Given the description of an element on the screen output the (x, y) to click on. 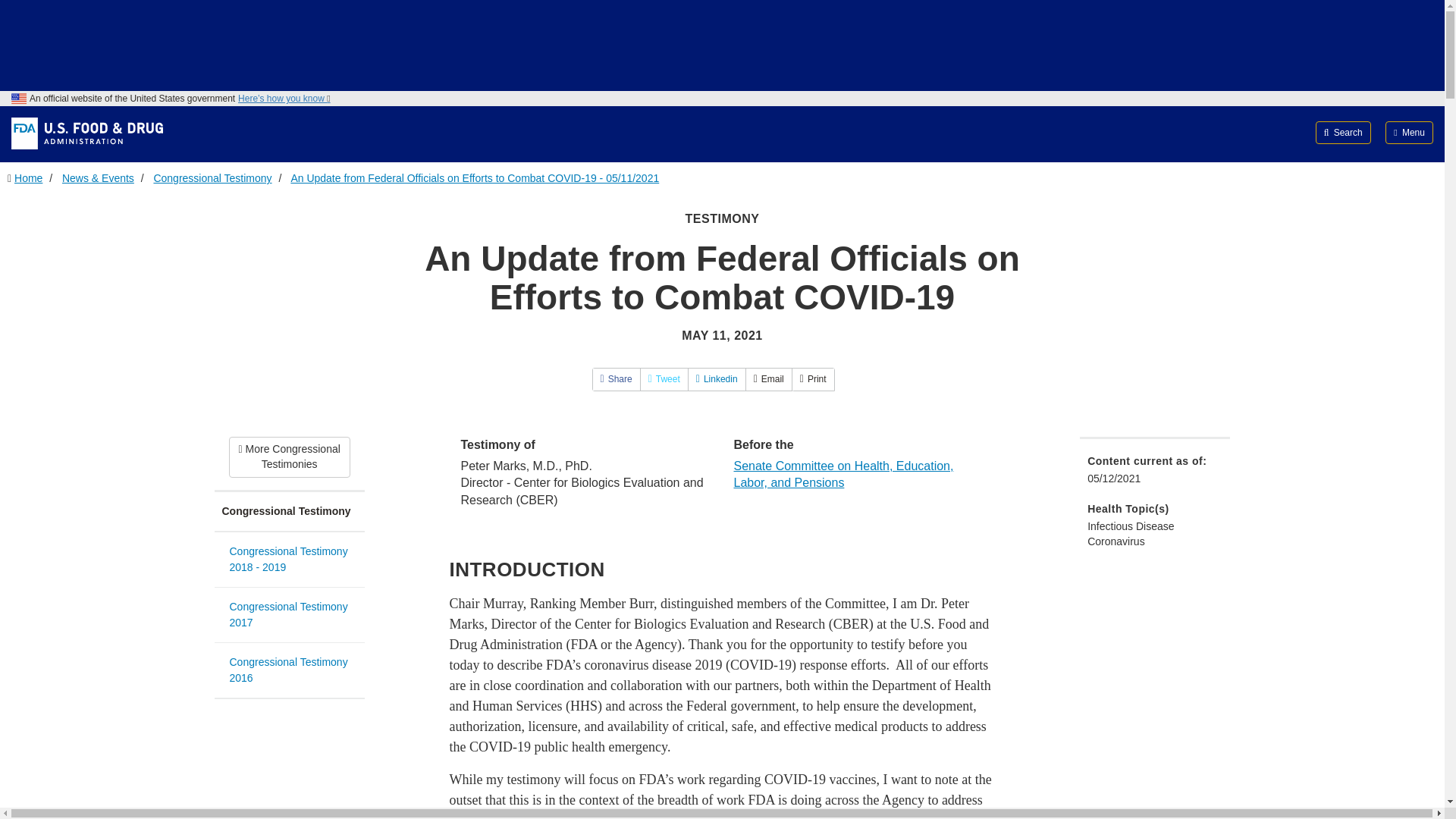
Print this page (813, 378)
Congressional Testimony (289, 512)
  Menu (1409, 132)
  Search (1343, 132)
